Given the description of an element on the screen output the (x, y) to click on. 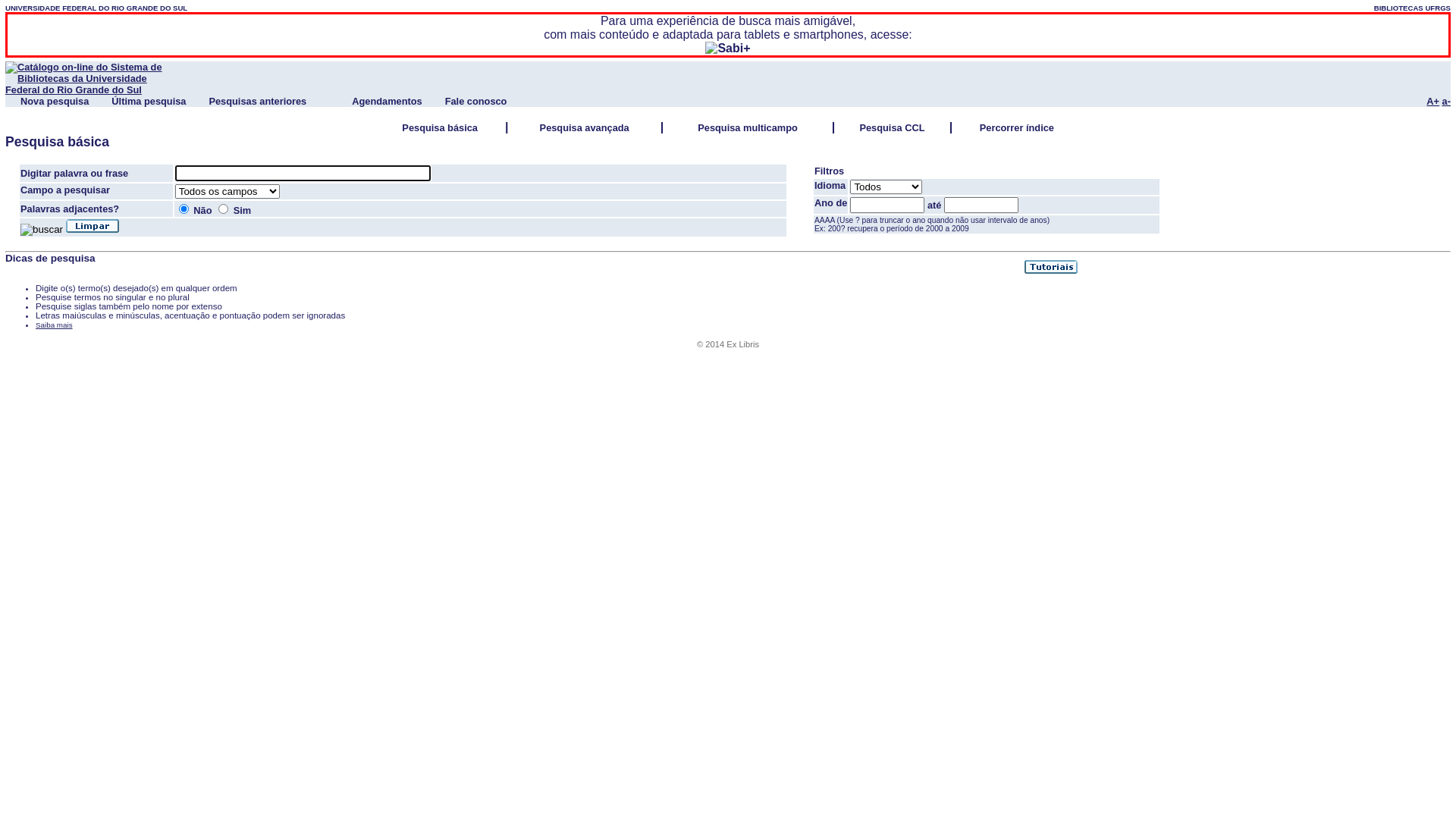
BIBLIOTECAS UFRGS Element type: text (1412, 7)
Fale conosco Element type: text (476, 100)
A+ Element type: text (1432, 100)
Pesquisa CCL Element type: text (891, 126)
Nova pesquisa Element type: text (54, 100)
a- Element type: text (1446, 100)
Agendamentos Element type: text (386, 100)
Pesquisas anteriores Element type: text (257, 100)
UNIVERSIDADE FEDERAL DO RIO GRANDE DO SUL Element type: text (96, 7)
Saiba mais Element type: text (53, 324)
Pesquisa multicampo Element type: text (747, 126)
